Given the description of an element on the screen output the (x, y) to click on. 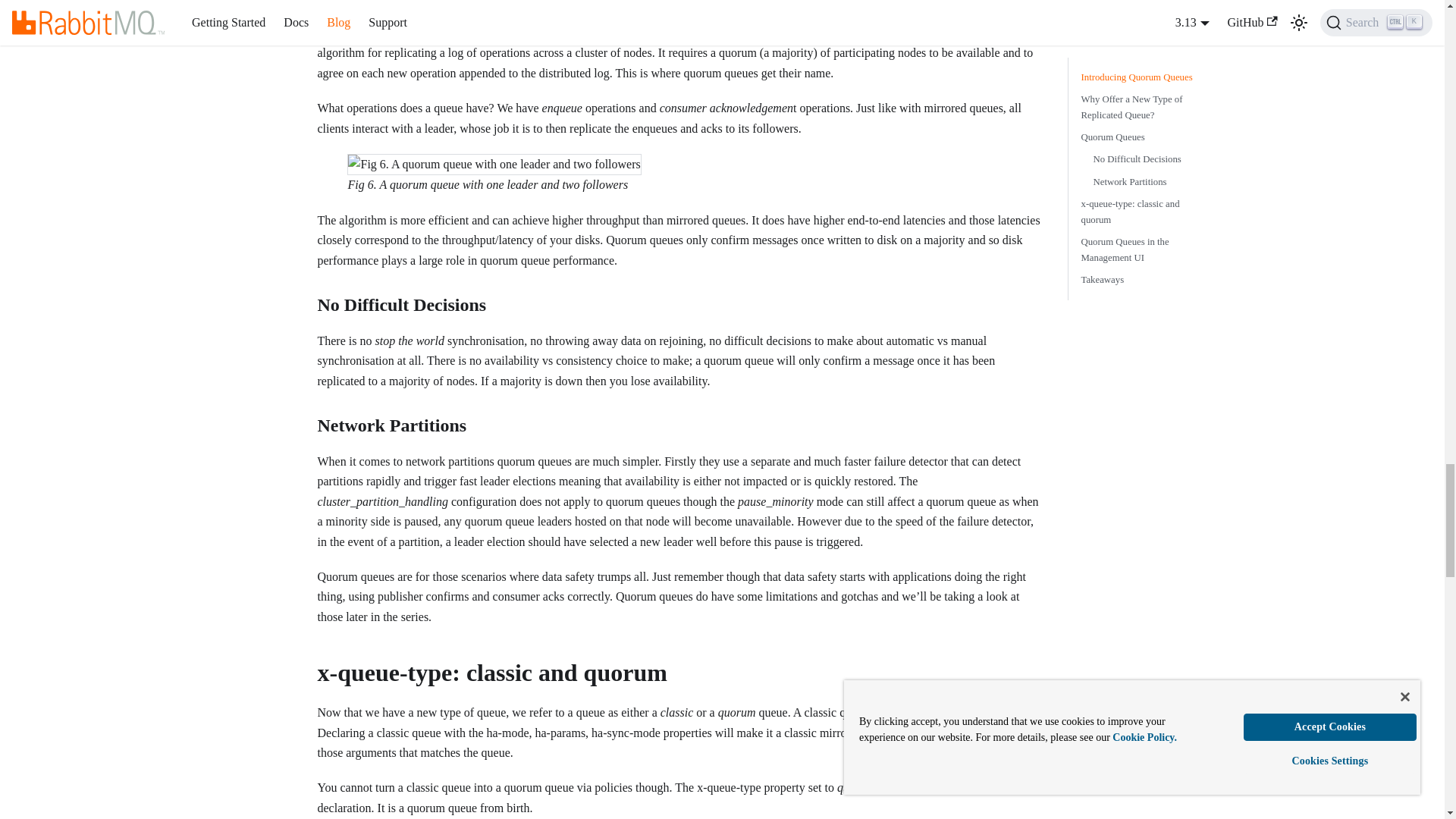
Quorum queues (355, 32)
